Given the description of an element on the screen output the (x, y) to click on. 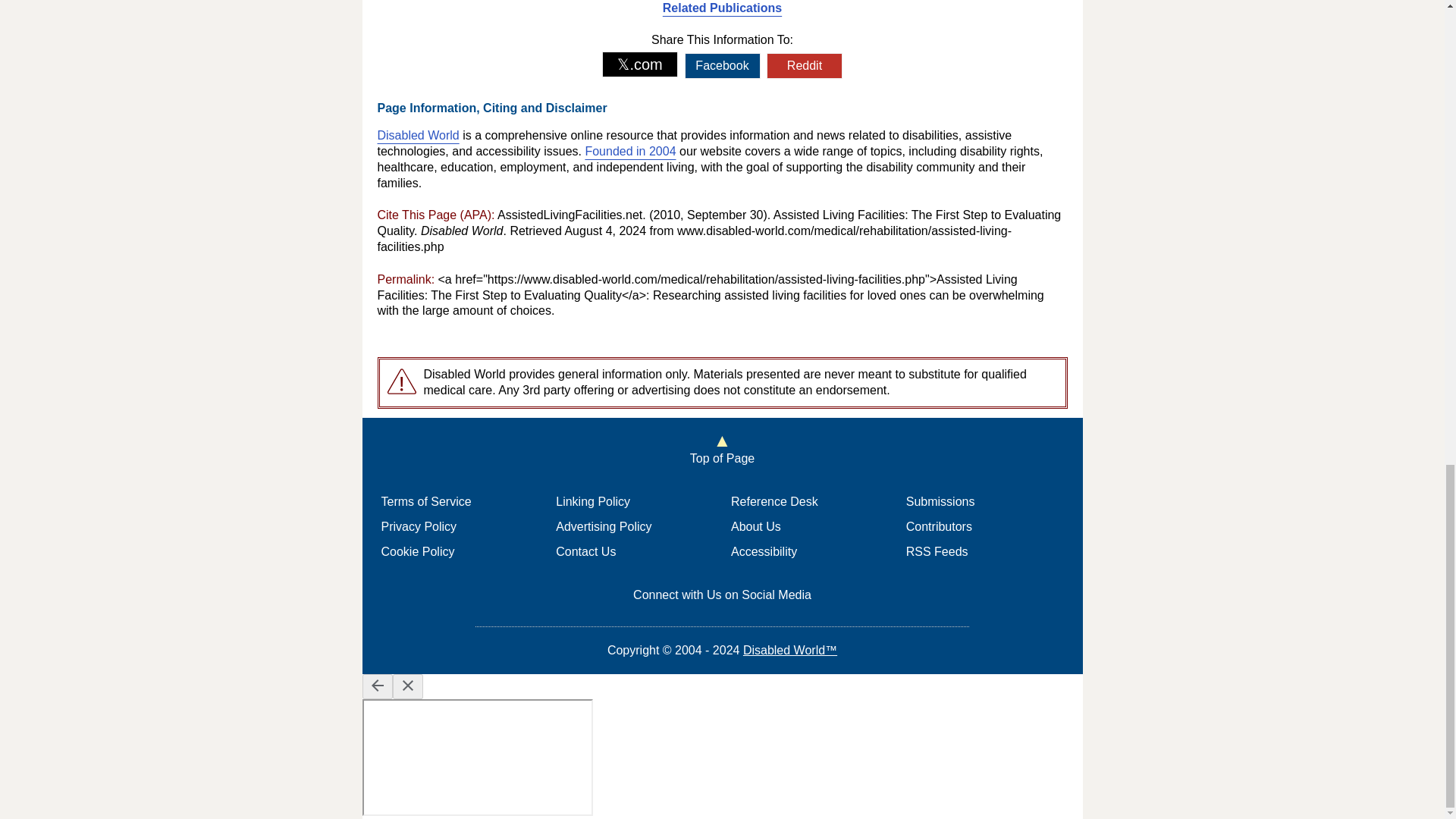
Cookie Policy (417, 551)
Linking Policy (593, 501)
Share on X (640, 64)
Terms of Service (425, 501)
Founded in 2004 (630, 151)
Disabled World (418, 134)
Advertising Policy (603, 526)
Contact Us (585, 551)
Privacy Policy (418, 526)
